Given the description of an element on the screen output the (x, y) to click on. 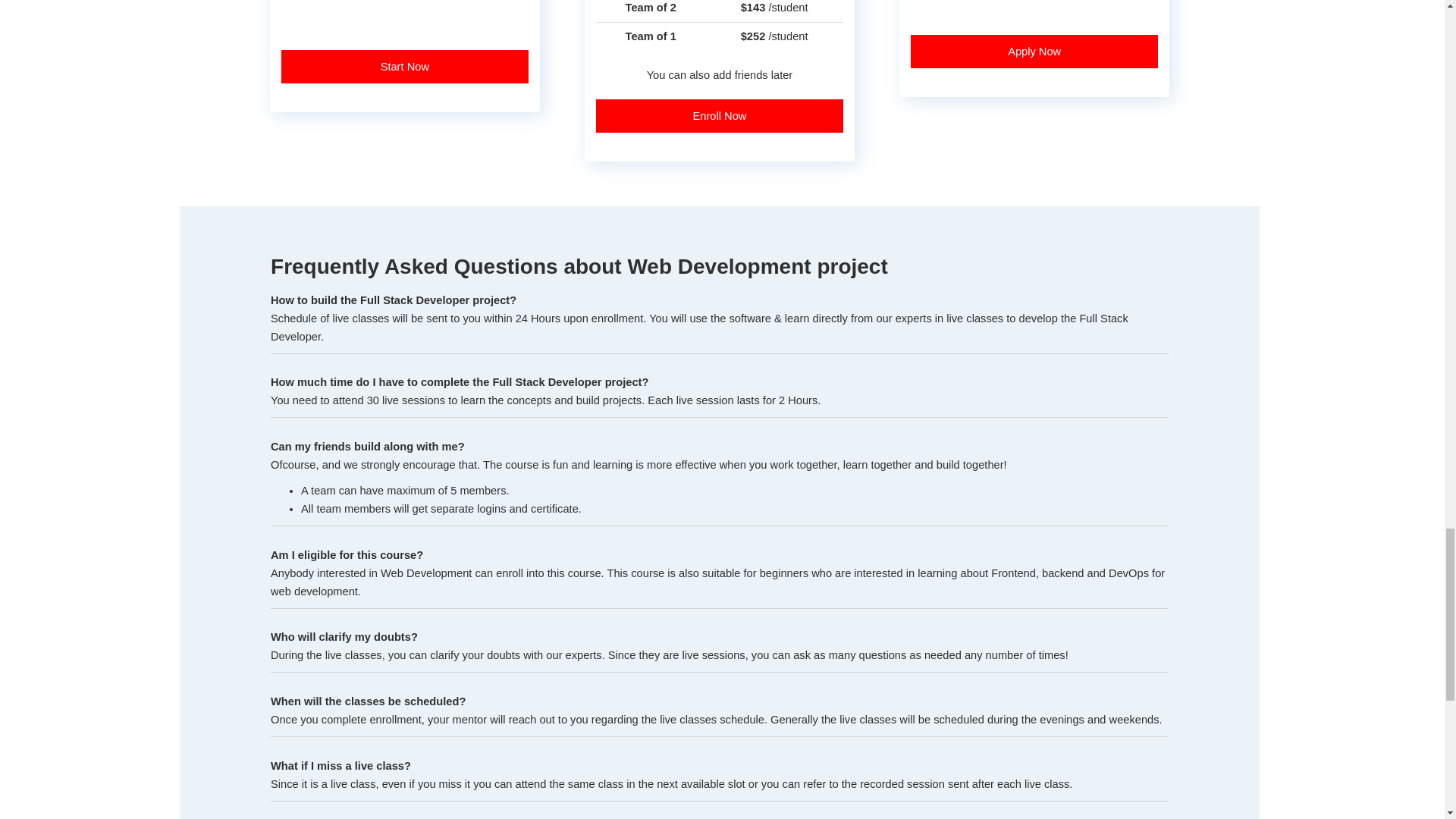
Start Now (404, 66)
Enroll Now (719, 115)
Apply Now (1034, 51)
